Given the description of an element on the screen output the (x, y) to click on. 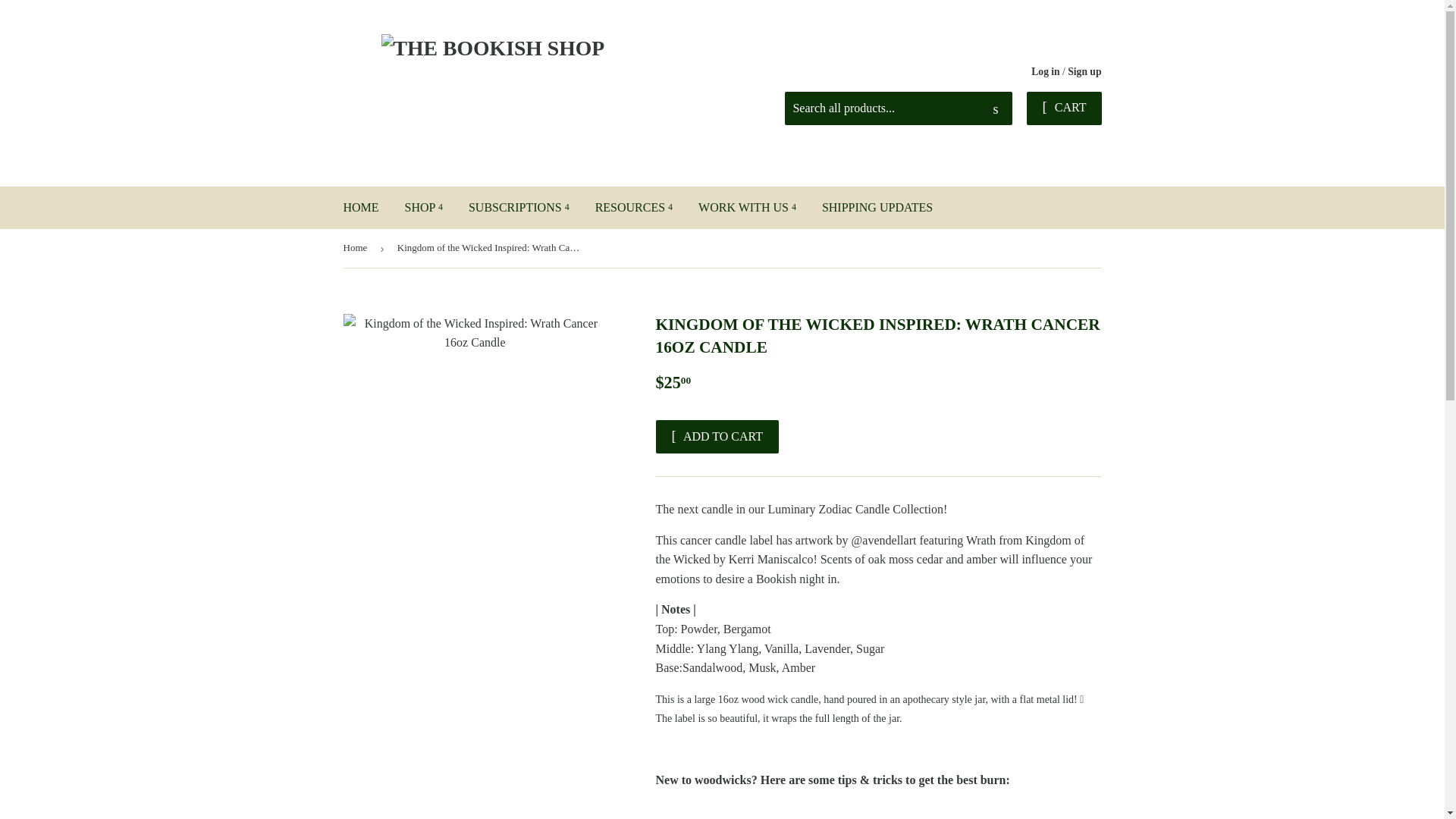
CART (1063, 108)
Search (994, 109)
Go toLog in (1044, 71)
Go toSign up (1083, 71)
Back to the frontpage (357, 248)
